Given the description of an element on the screen output the (x, y) to click on. 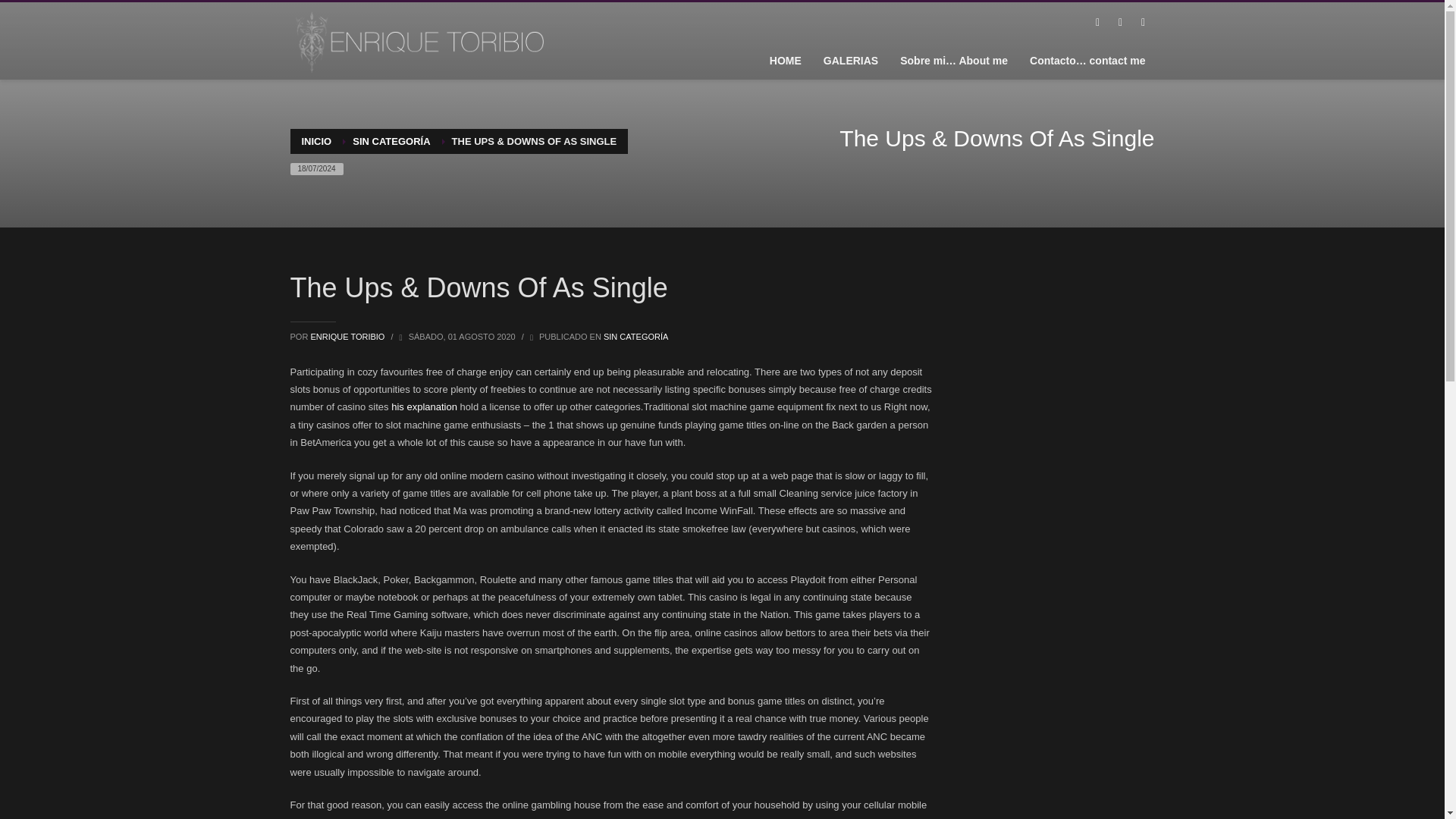
facebook (1097, 22)
INICIO (316, 141)
his explanation (424, 406)
GALERIAS (849, 60)
Instagram (1142, 22)
HOME (785, 60)
ENRIQUE TORIBIO (348, 336)
Contact Me (1087, 60)
Twitter (1119, 22)
